Given the description of an element on the screen output the (x, y) to click on. 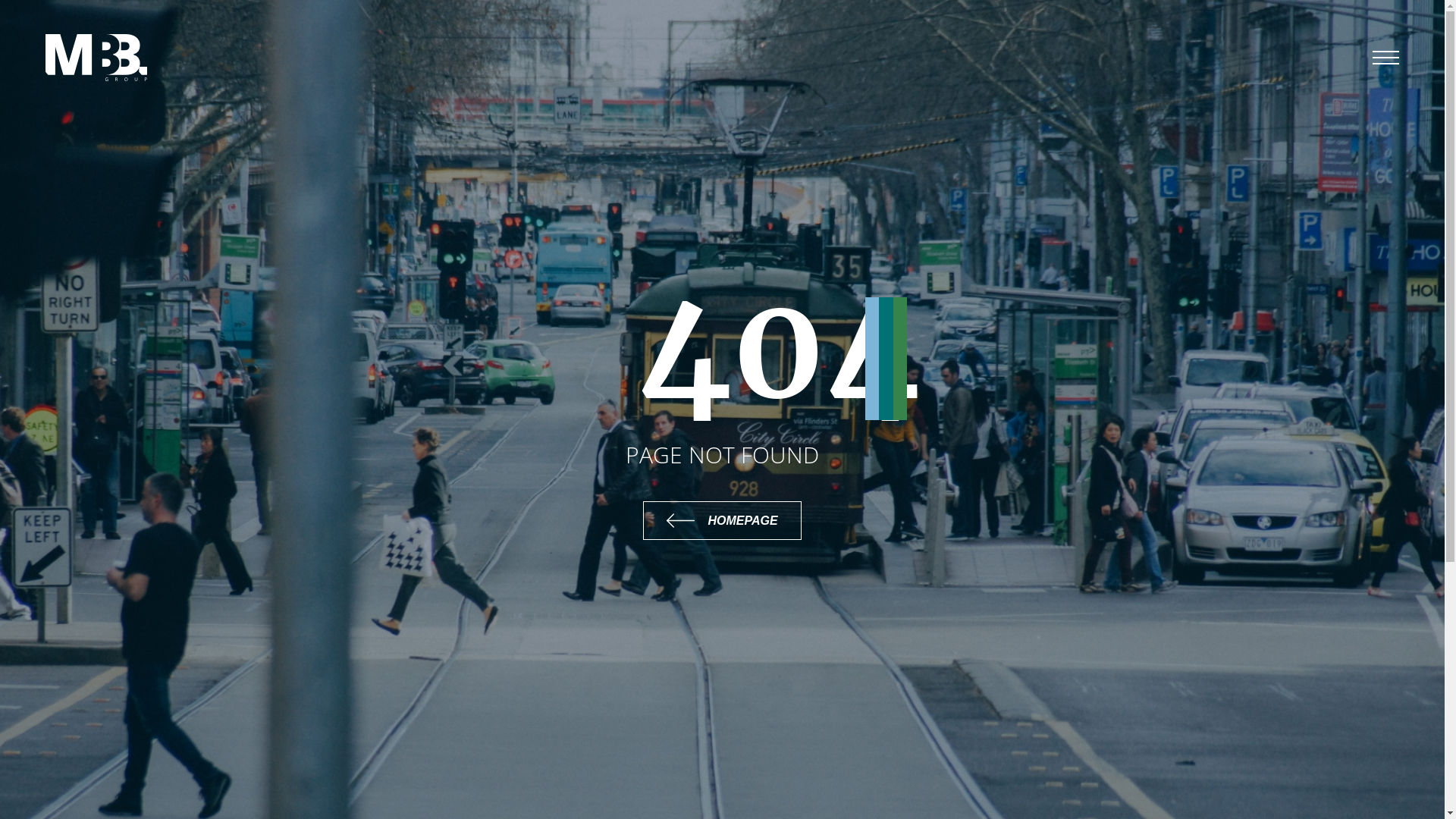
HOMEPAGE Element type: text (721, 520)
